Given the description of an element on the screen output the (x, y) to click on. 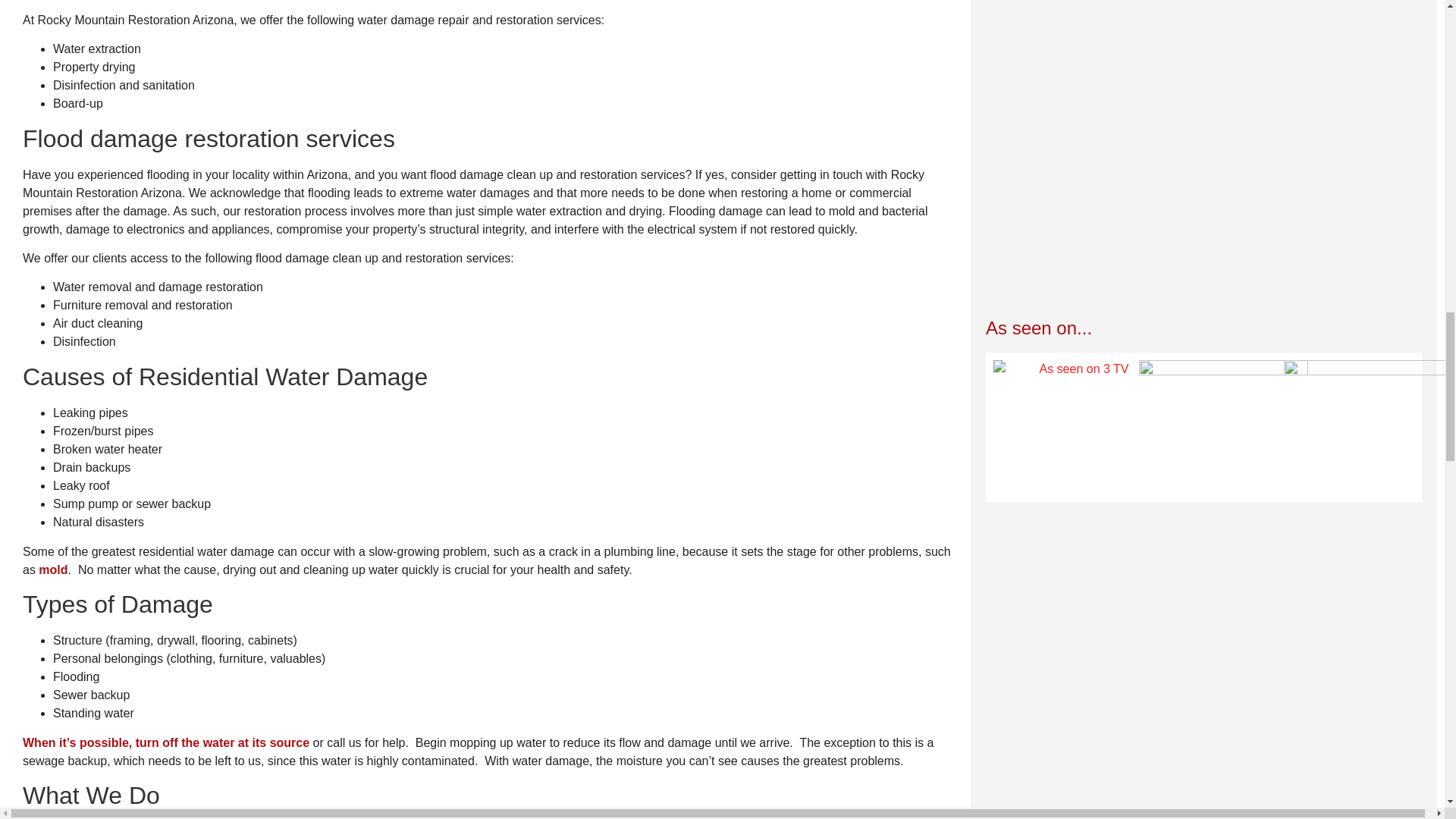
Before we arrive (165, 742)
Residential Mold Damage (52, 569)
